Given the description of an element on the screen output the (x, y) to click on. 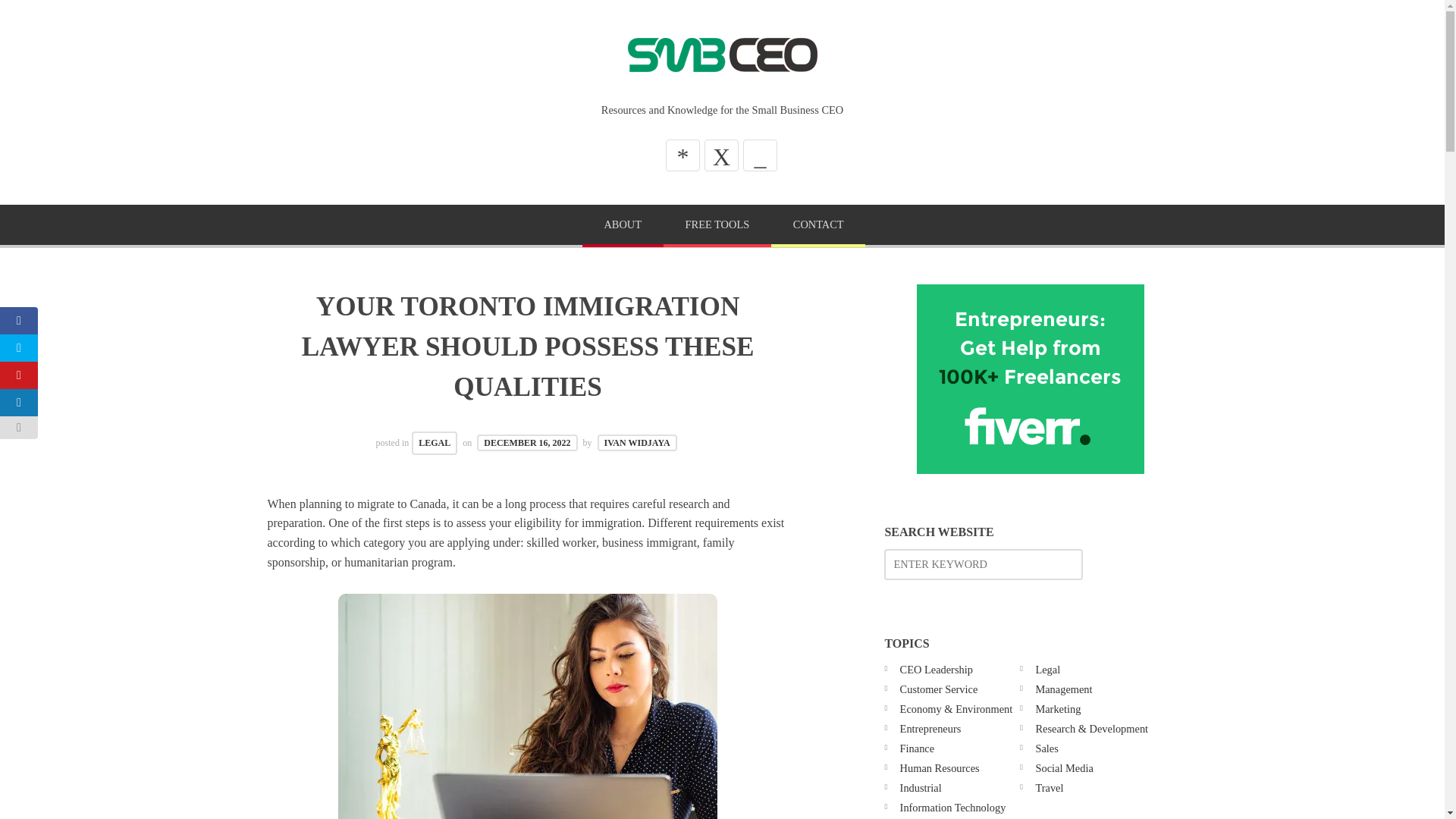
X (721, 155)
ABOUT (622, 225)
LEGAL (434, 443)
6:39 am (526, 442)
Search (45, 16)
DECEMBER 16, 2022 (526, 442)
View all posts by Ivan Widjaya (636, 442)
CEO Leadership (935, 669)
IVAN WIDJAYA (636, 442)
CONTACT (817, 225)
Customer Service (938, 689)
FREE TOOLS (717, 225)
